Given the description of an element on the screen output the (x, y) to click on. 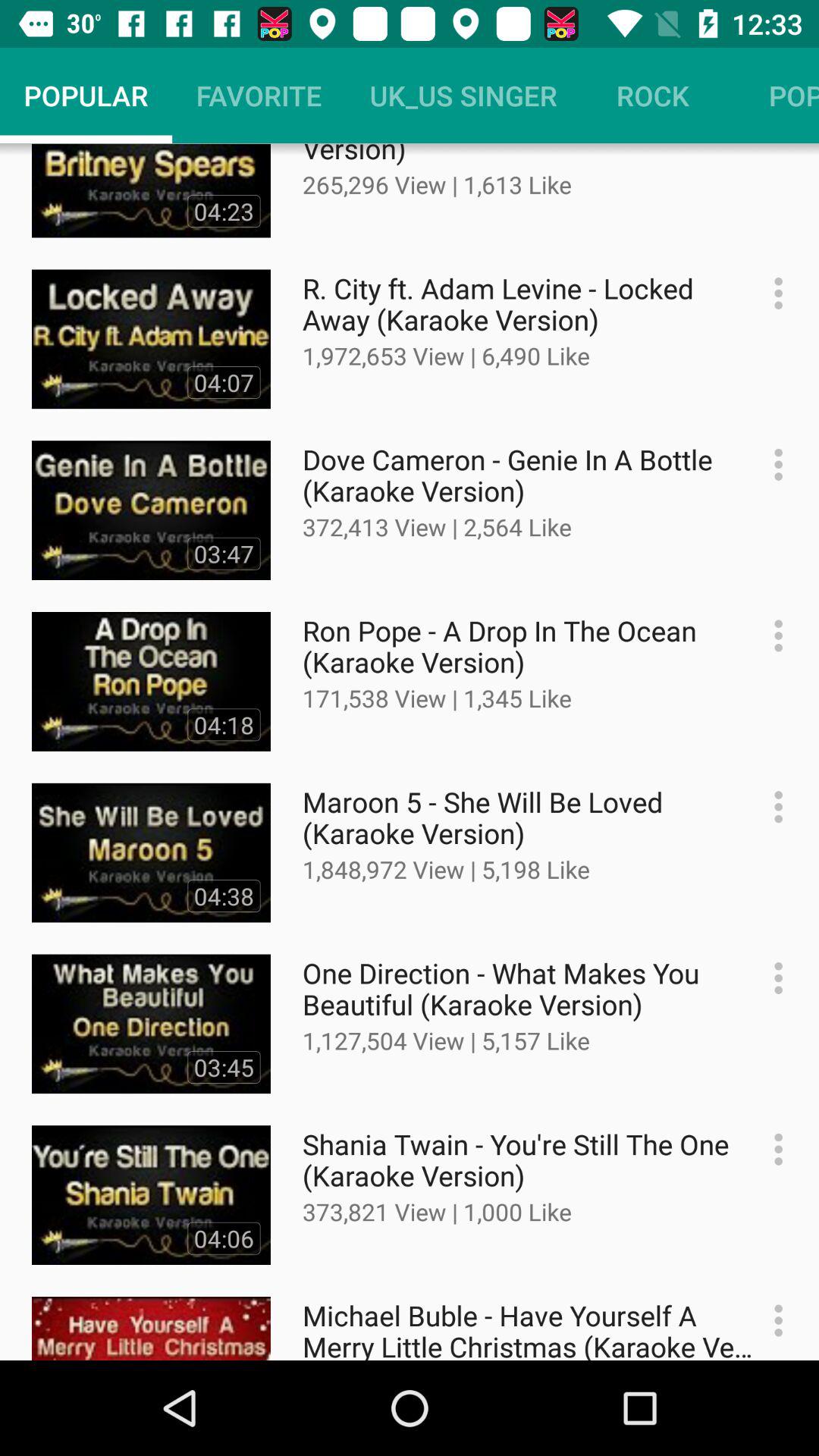
overflow menu (770, 464)
